Given the description of an element on the screen output the (x, y) to click on. 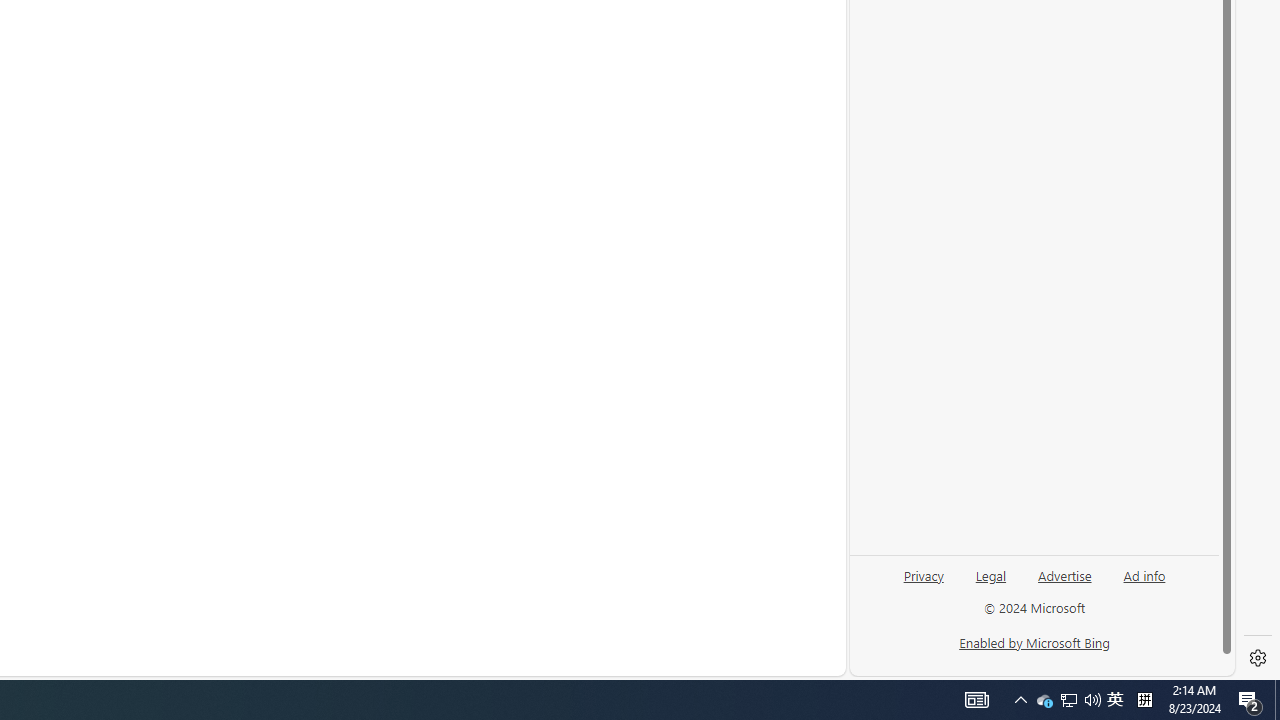
Legal (991, 574)
Legal (990, 583)
Ad info (1144, 583)
Ad info (1144, 574)
